Given the description of an element on the screen output the (x, y) to click on. 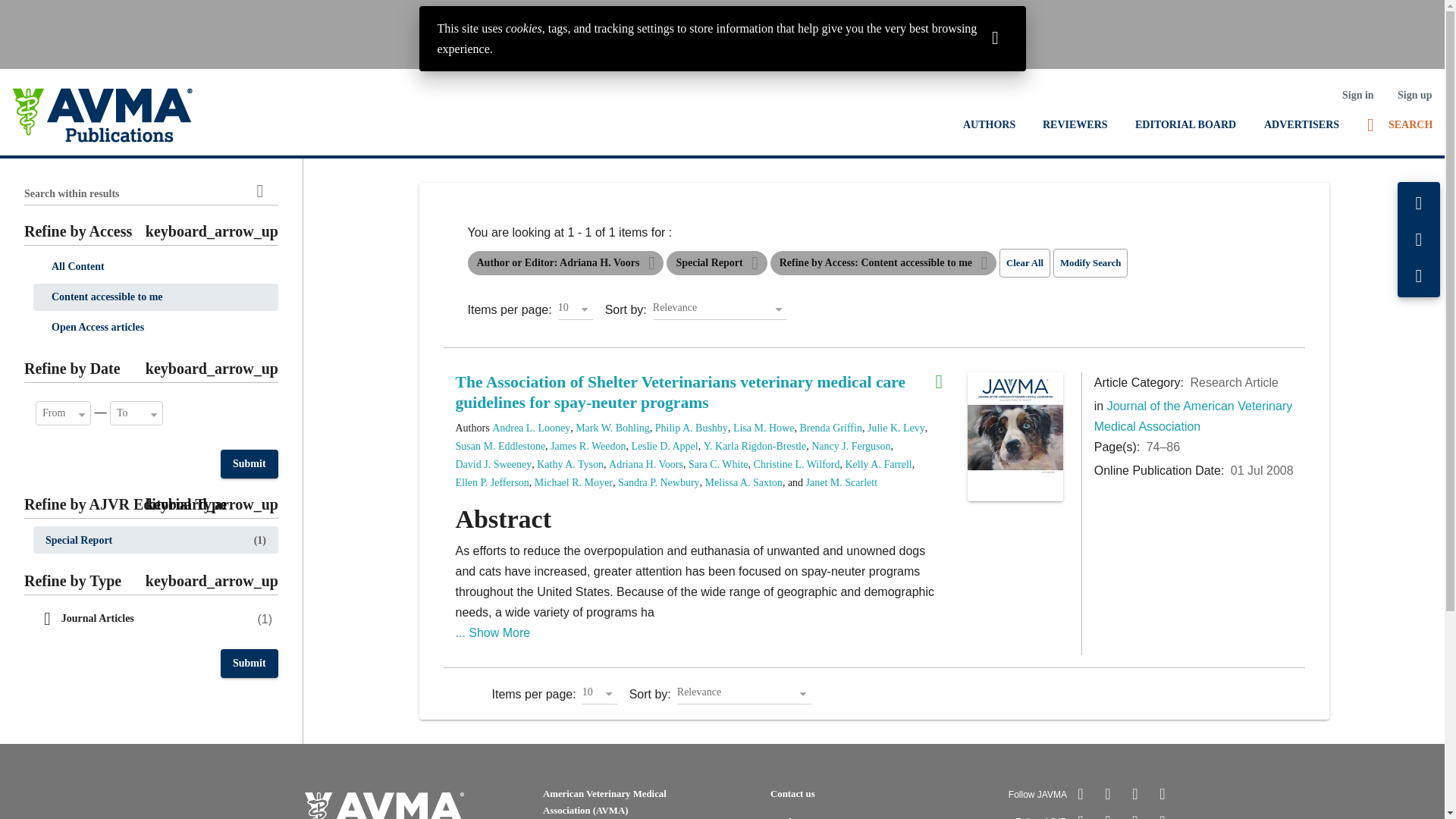
Sign in (1358, 95)
Submit (249, 463)
Jump to Content (45, 11)
Full access (945, 382)
Email Page (1418, 239)
ADVERTISERS (1301, 124)
Save (1418, 203)
AUTHORS (988, 124)
Search within results (259, 190)
Share (1418, 275)
Open Access articles (155, 327)
EDITORIAL BOARD (1184, 124)
All Content (155, 266)
Save (1418, 203)
REVIEWERS (1074, 124)
